Given the description of an element on the screen output the (x, y) to click on. 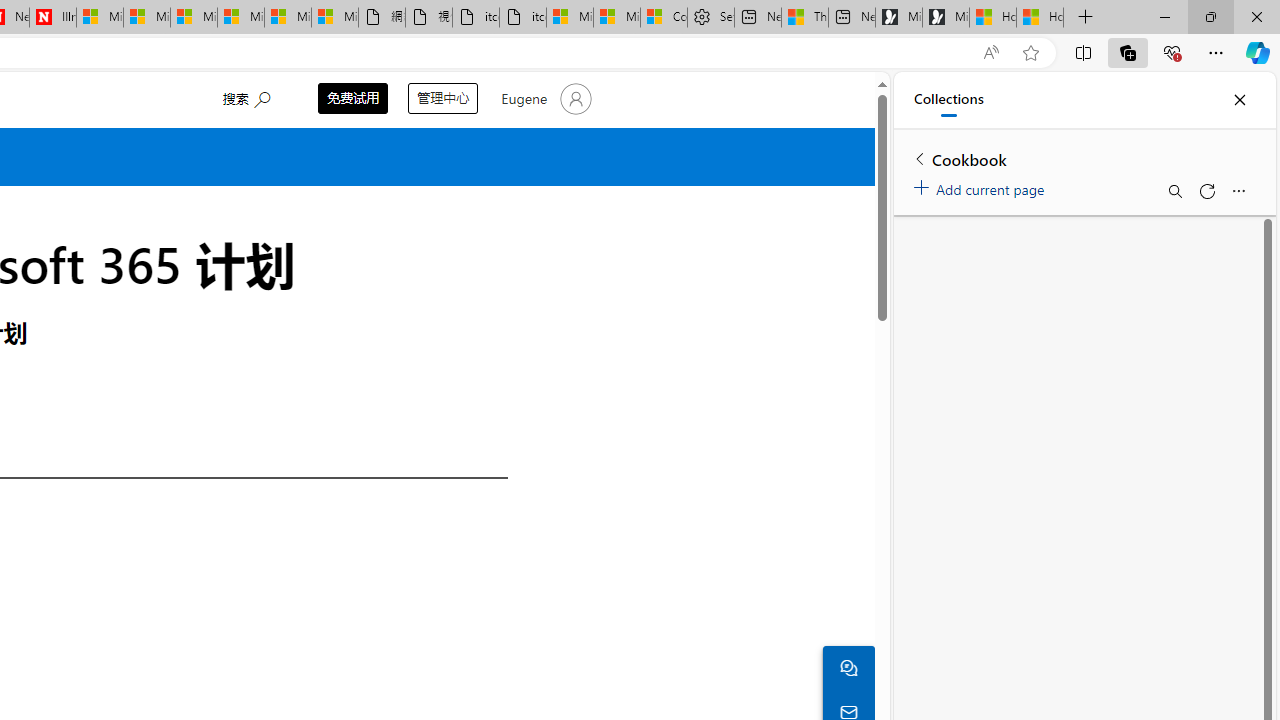
How to Use a TV as a Computer Monitor (1040, 17)
Back to list of collections (920, 158)
More options menu (1238, 190)
